Given the description of an element on the screen output the (x, y) to click on. 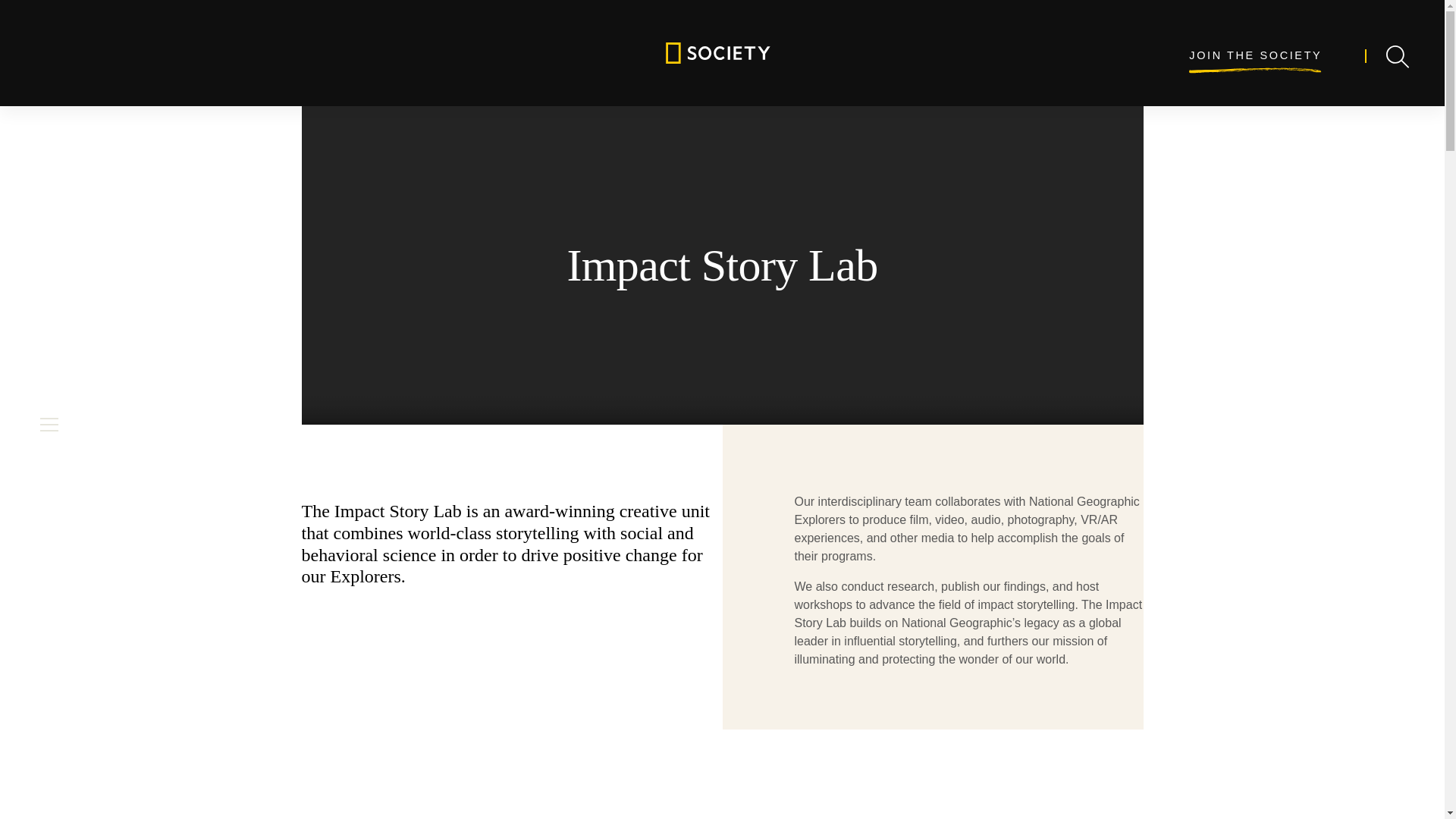
JOIN THE SOCIETY (1255, 55)
